Given the description of an element on the screen output the (x, y) to click on. 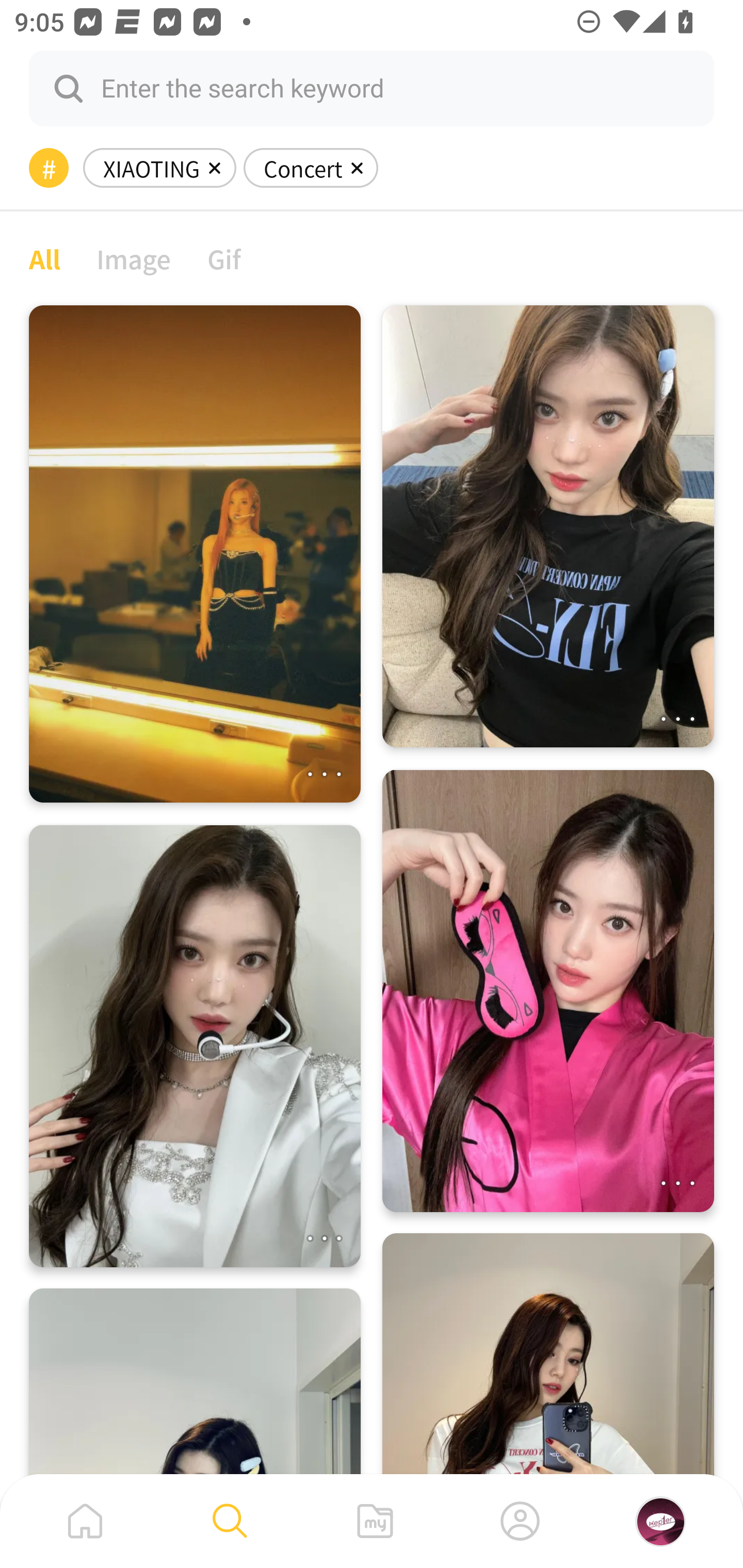
All (44, 257)
Image (133, 257)
Gif (223, 257)
